Given the description of an element on the screen output the (x, y) to click on. 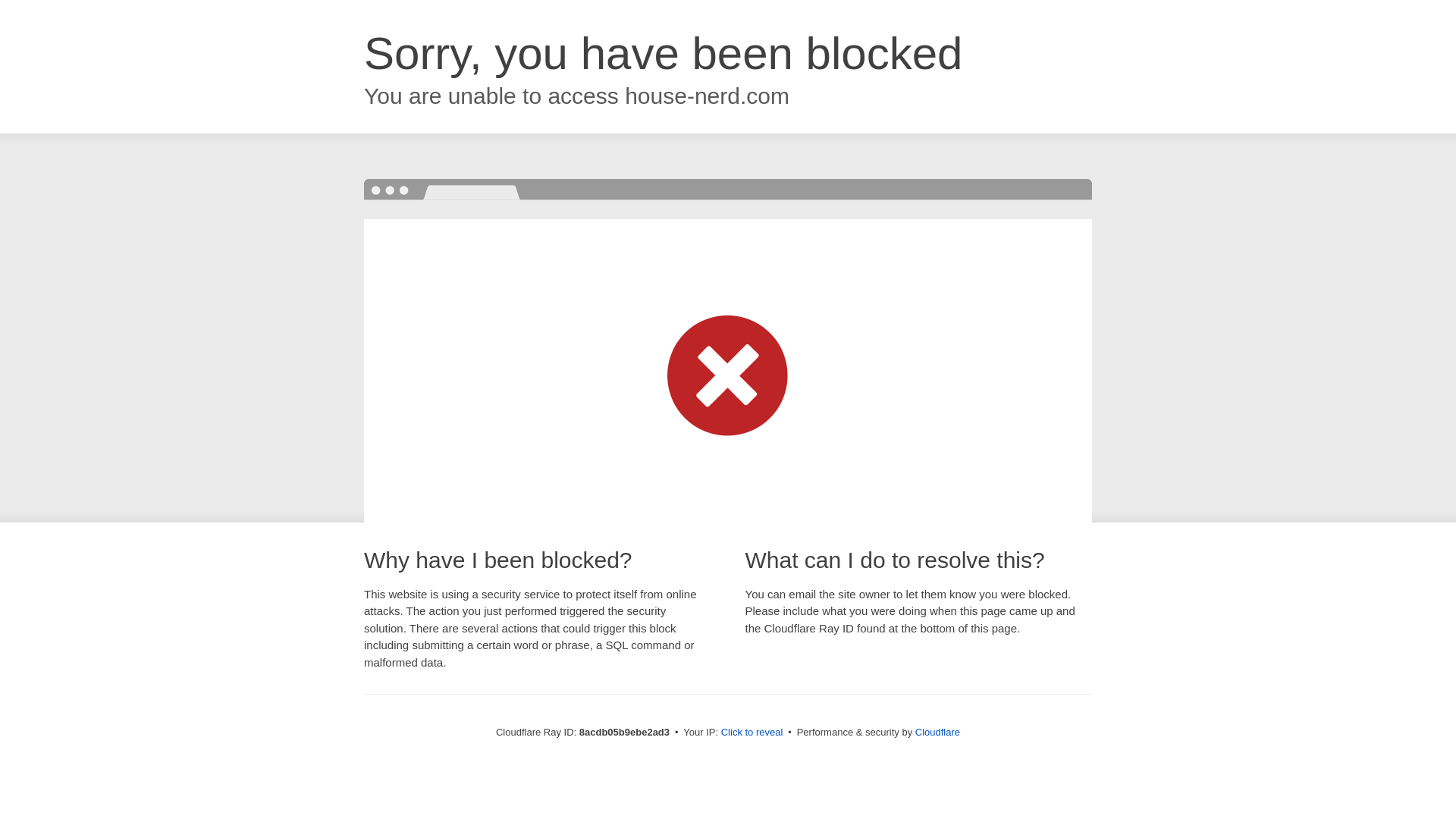
Click to reveal (751, 732)
Cloudflare (937, 731)
